Given the description of an element on the screen output the (x, y) to click on. 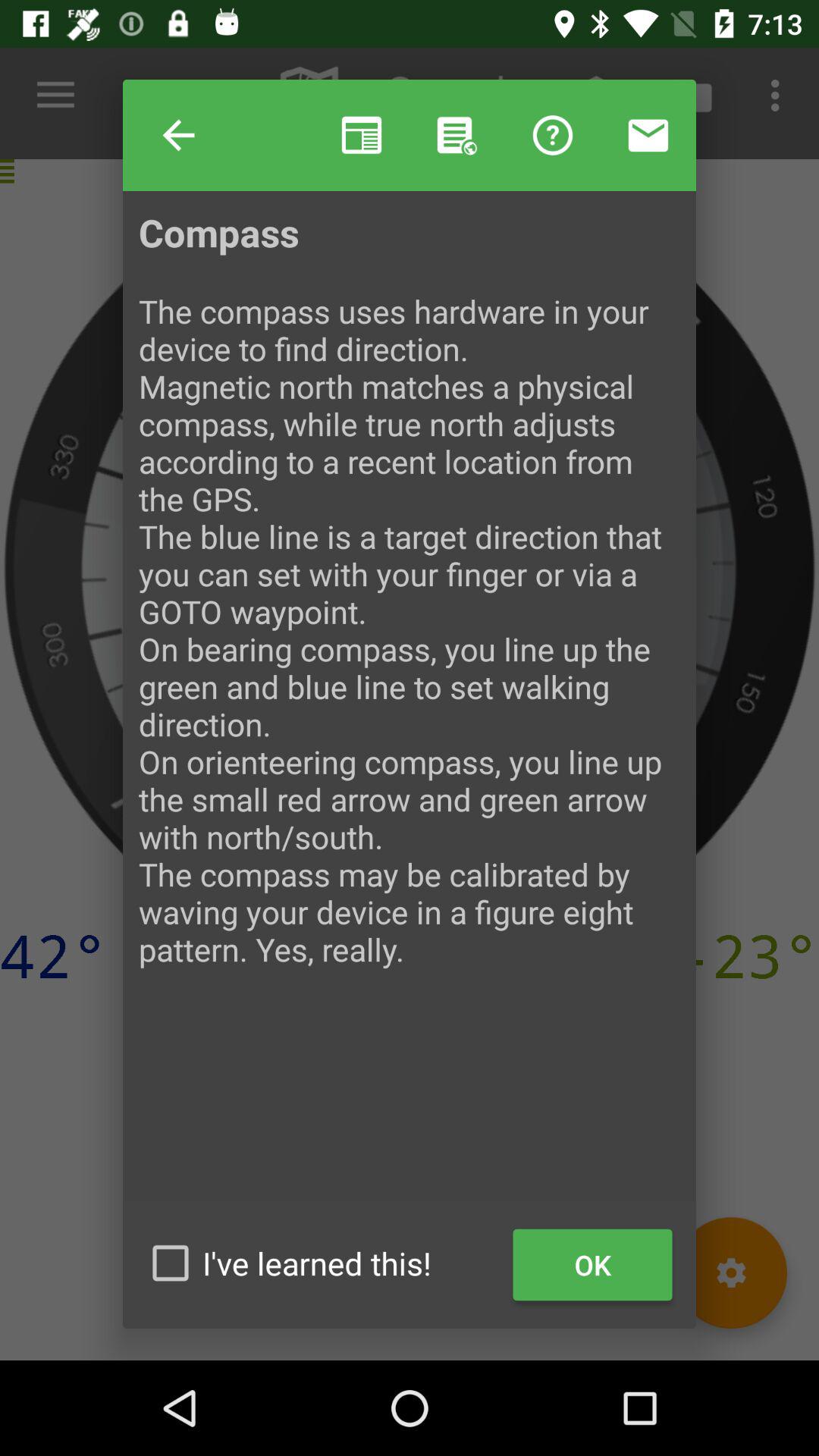
turn off the item at the bottom (321, 1263)
